Given the description of an element on the screen output the (x, y) to click on. 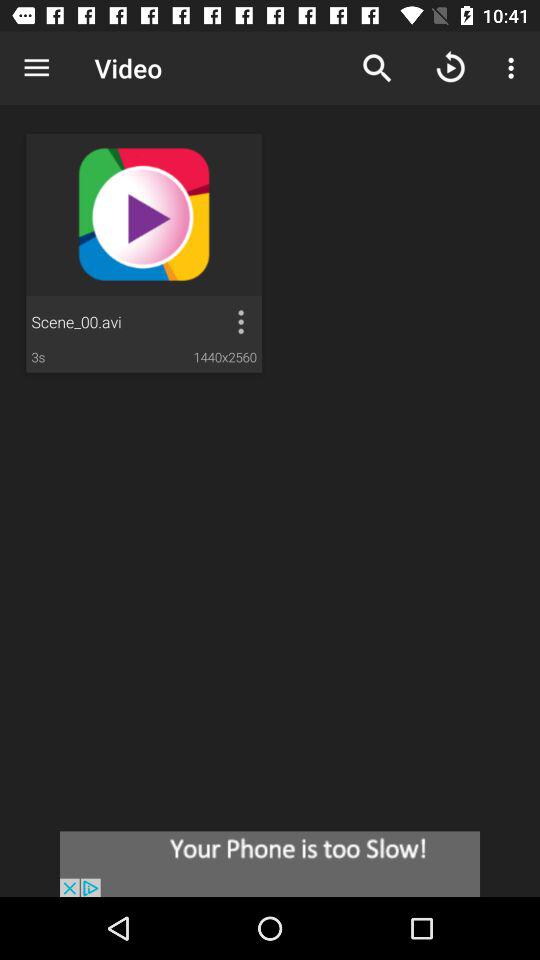
advertisement (270, 864)
